Given the description of an element on the screen output the (x, y) to click on. 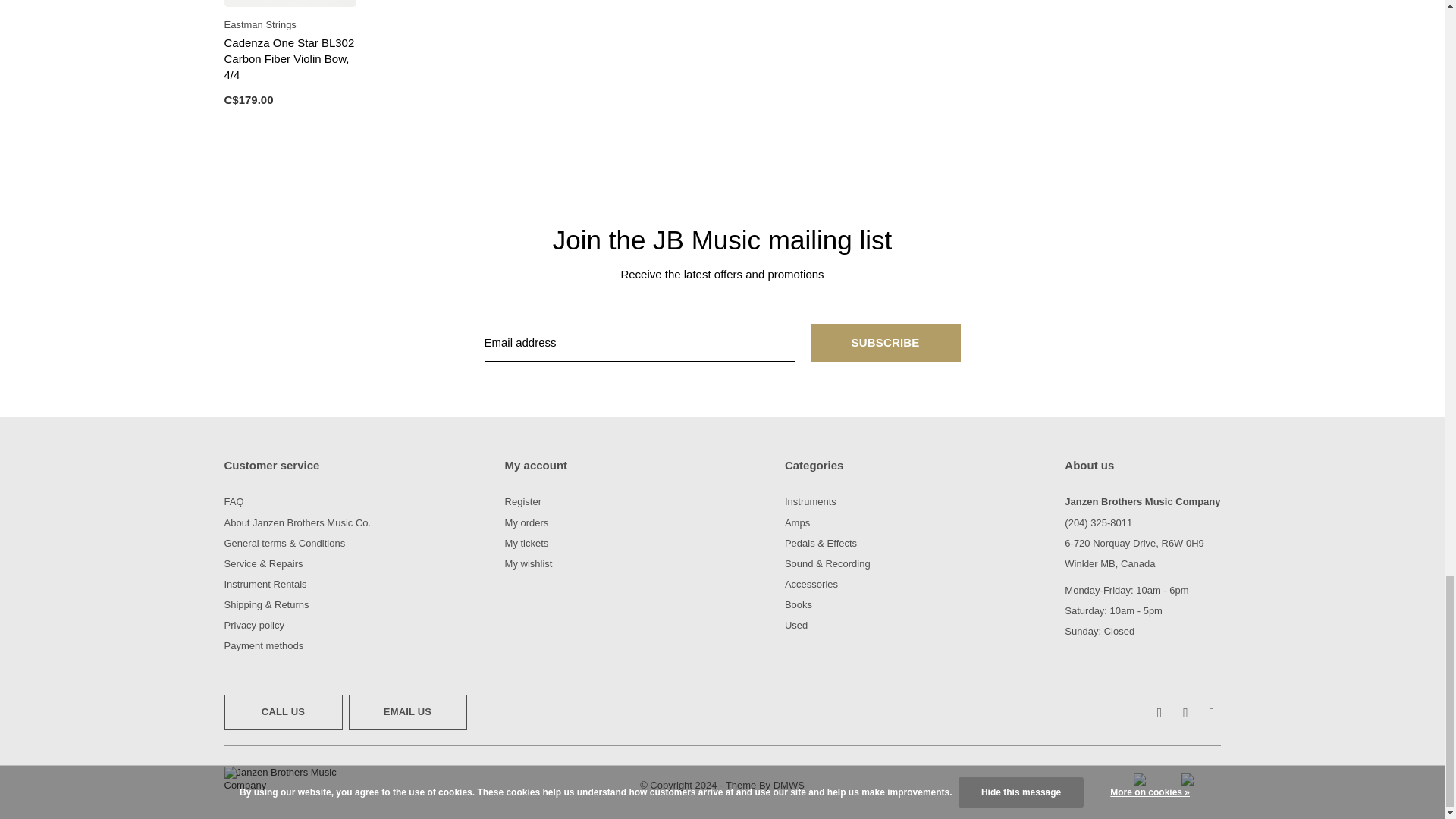
My tickets (526, 542)
My wishlist (529, 563)
Register (523, 501)
My orders (526, 522)
